Given the description of an element on the screen output the (x, y) to click on. 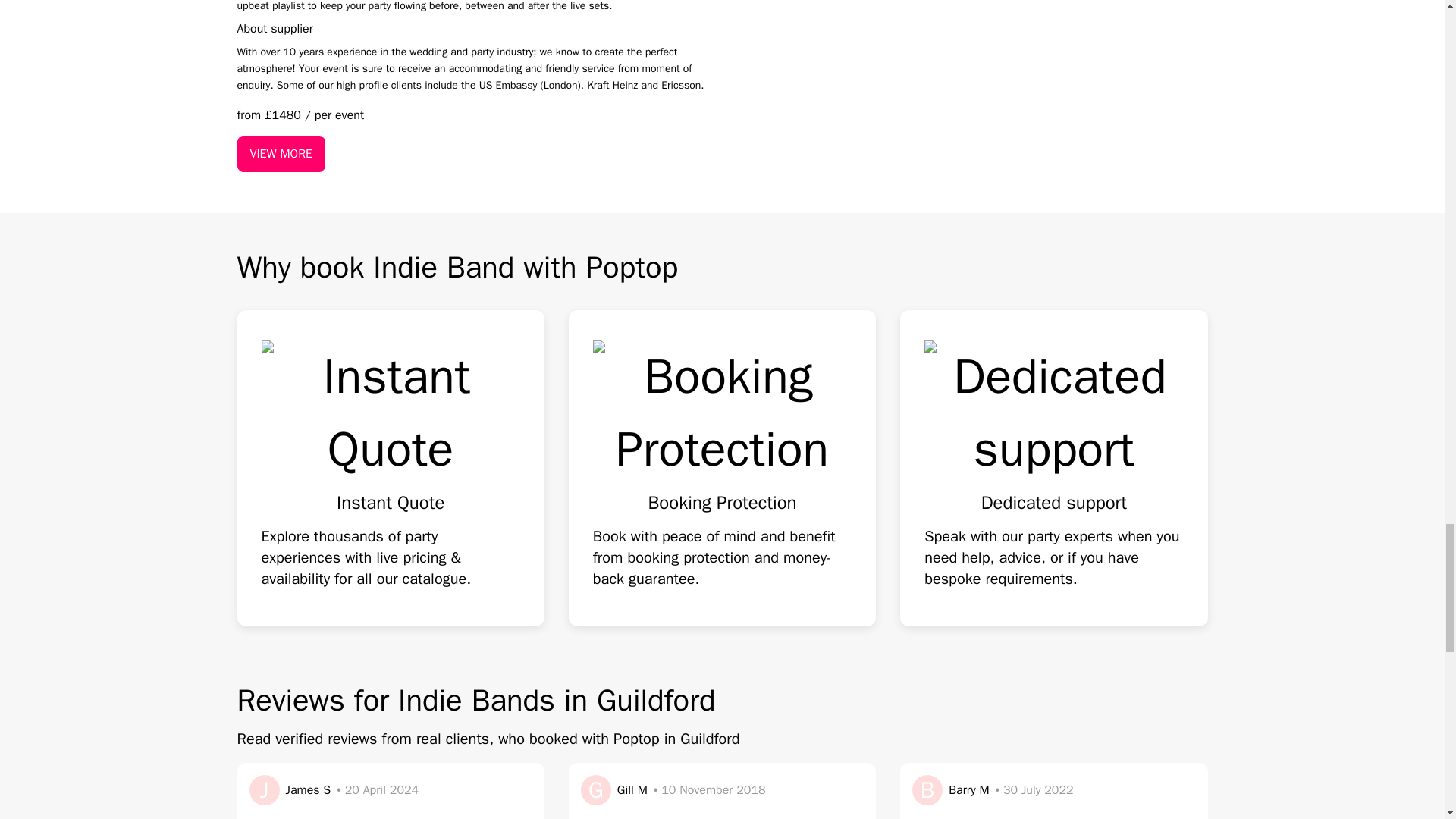
VIEW MORE (279, 153)
